Given the description of an element on the screen output the (x, y) to click on. 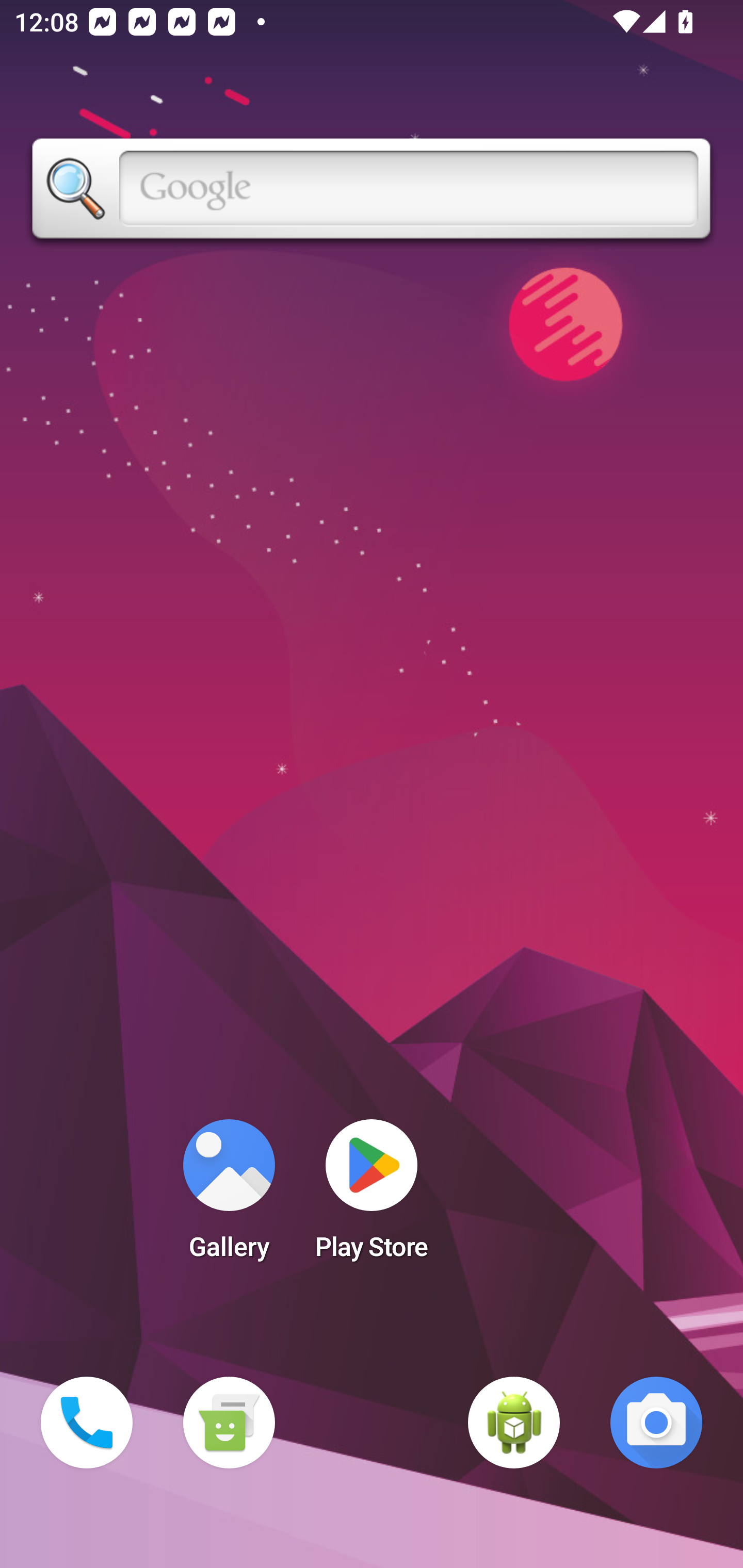
Gallery (228, 1195)
Play Store (371, 1195)
Phone (86, 1422)
Messaging (228, 1422)
WebView Browser Tester (513, 1422)
Camera (656, 1422)
